Given the description of an element on the screen output the (x, y) to click on. 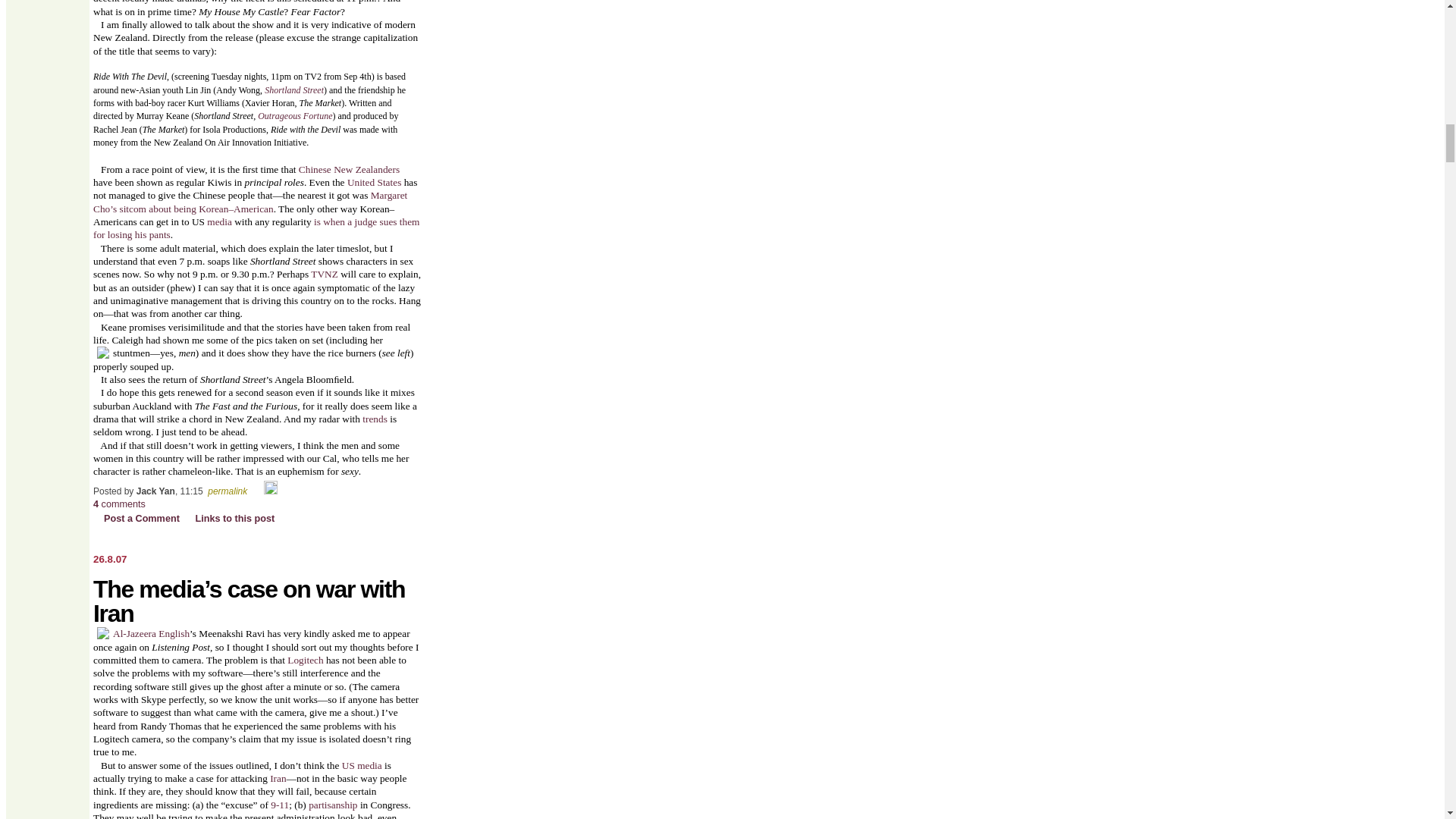
Edit Post (270, 490)
Email Post (256, 490)
